Given the description of an element on the screen output the (x, y) to click on. 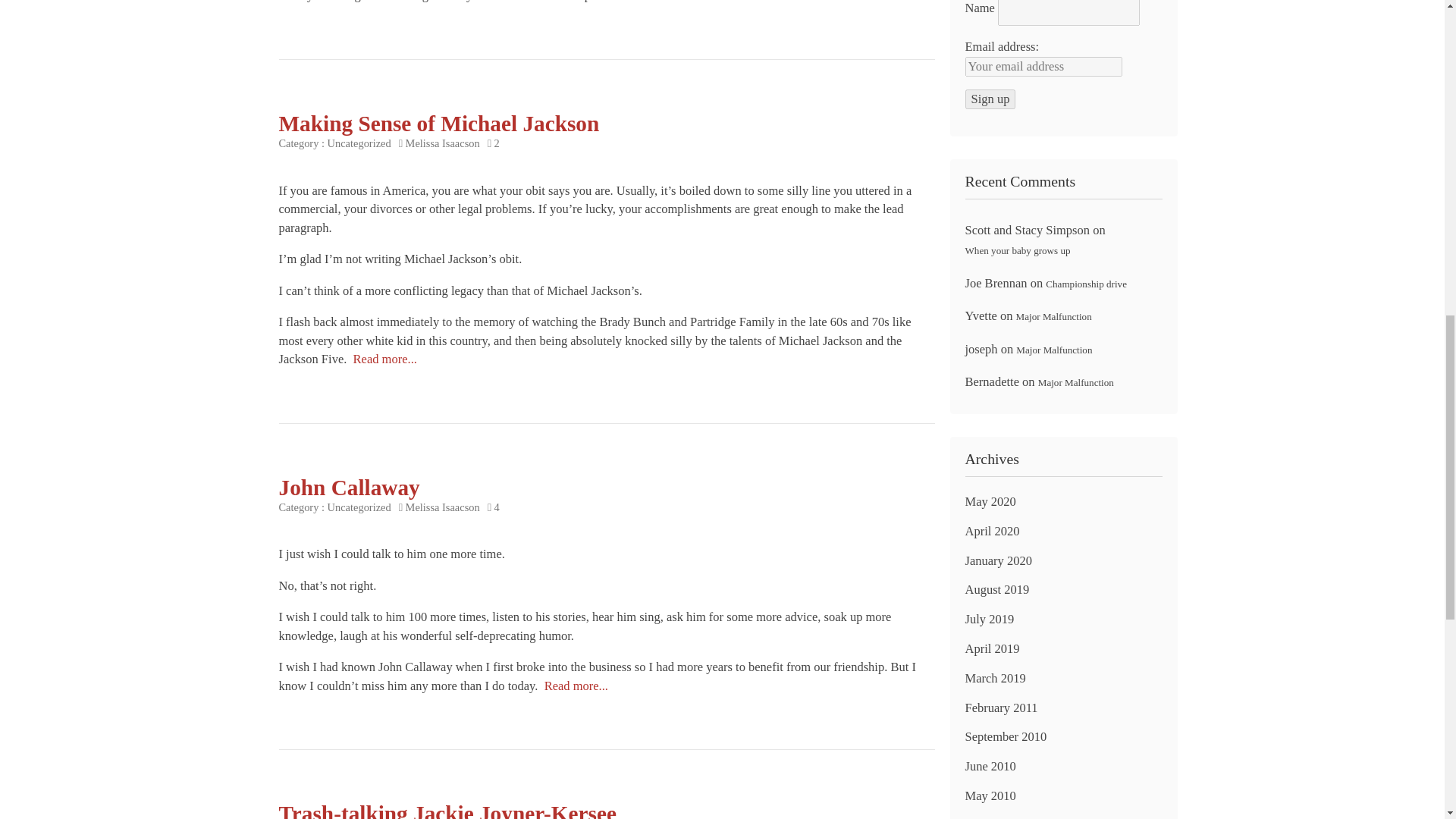
Posts by Melissa Isaacson (443, 143)
Permanent Link: John Callaway (576, 685)
Uncategorized (359, 507)
Melissa Isaacson (443, 507)
Trash-talking Jackie Joyner-Kersee (447, 810)
John Callaway (349, 487)
Read more... (576, 685)
Posts by Melissa Isaacson (443, 507)
Trash-talking Jackie Joyner-Kersee (447, 810)
Uncategorized (359, 143)
Read more... (384, 359)
Sign up (988, 98)
Making Sense of Michael Jackson (439, 123)
Read more... (631, 1)
